Given the description of an element on the screen output the (x, y) to click on. 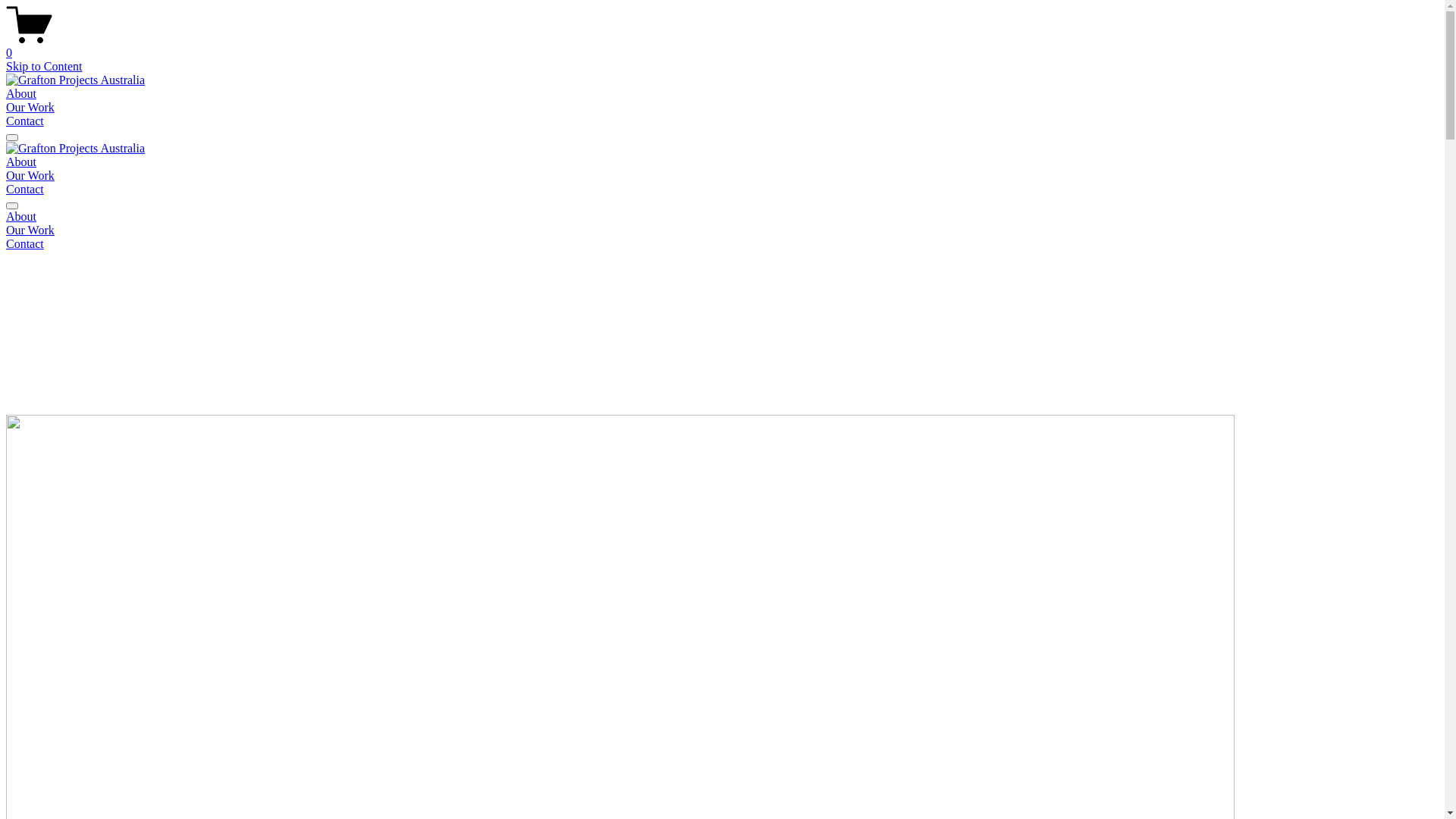
Contact Element type: text (24, 188)
0 Element type: text (722, 45)
About Element type: text (21, 93)
About Element type: text (722, 216)
Our Work Element type: text (30, 175)
Our Work Element type: text (30, 106)
Contact Element type: text (24, 120)
Our Work Element type: text (722, 230)
About Element type: text (21, 161)
Skip to Content Element type: text (43, 65)
Contact Element type: text (722, 244)
